Given the description of an element on the screen output the (x, y) to click on. 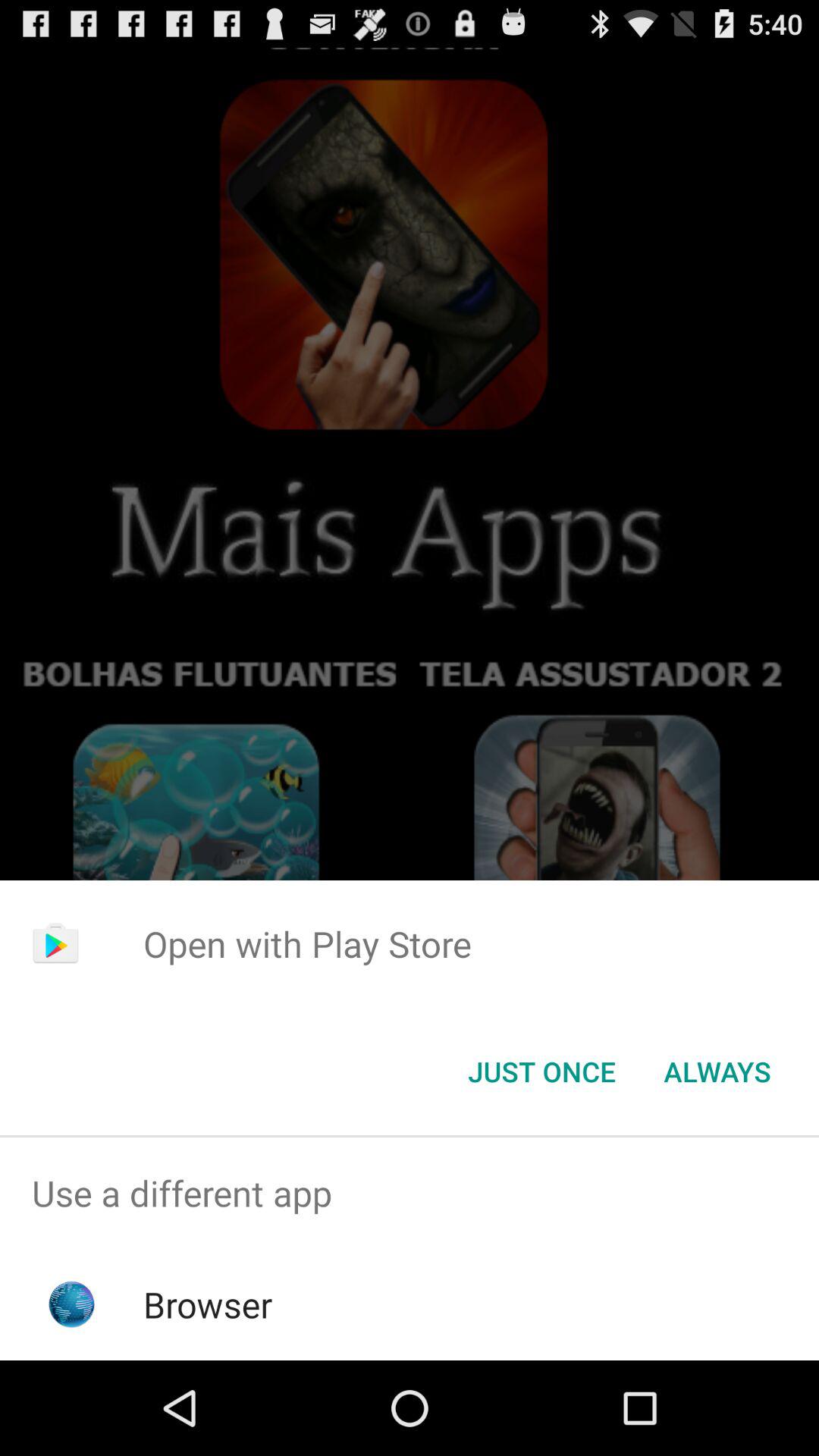
turn on the use a different (409, 1192)
